Given the description of an element on the screen output the (x, y) to click on. 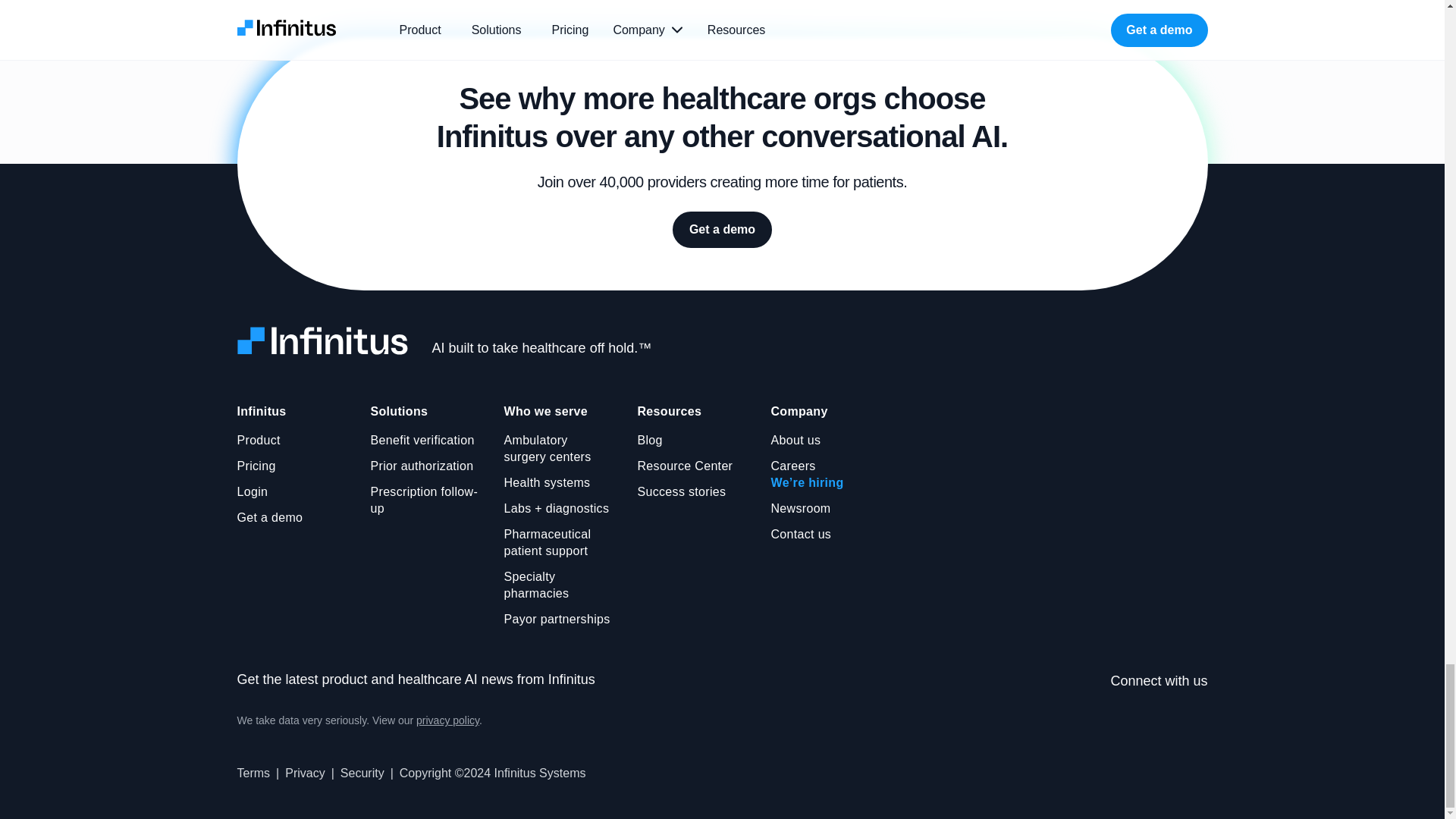
Health systems (546, 483)
Benefit verification (421, 440)
Infinitus (260, 411)
Product (257, 440)
Get a demo (268, 517)
Pricing (255, 466)
Prior authorization (421, 466)
Payor partnerships (556, 619)
Blog (649, 440)
Specialty pharmacies (557, 584)
Solutions (398, 411)
Prescription follow-up (424, 500)
Who we serve (545, 411)
Ambulatory surgery centers (557, 449)
Success stories (681, 492)
